Given the description of an element on the screen output the (x, y) to click on. 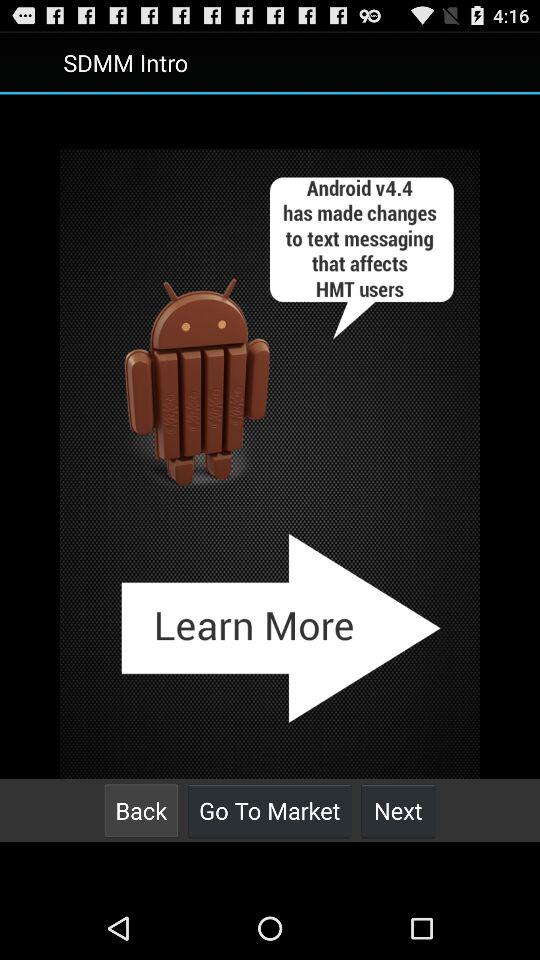
tap item next to back button (269, 810)
